Given the description of an element on the screen output the (x, y) to click on. 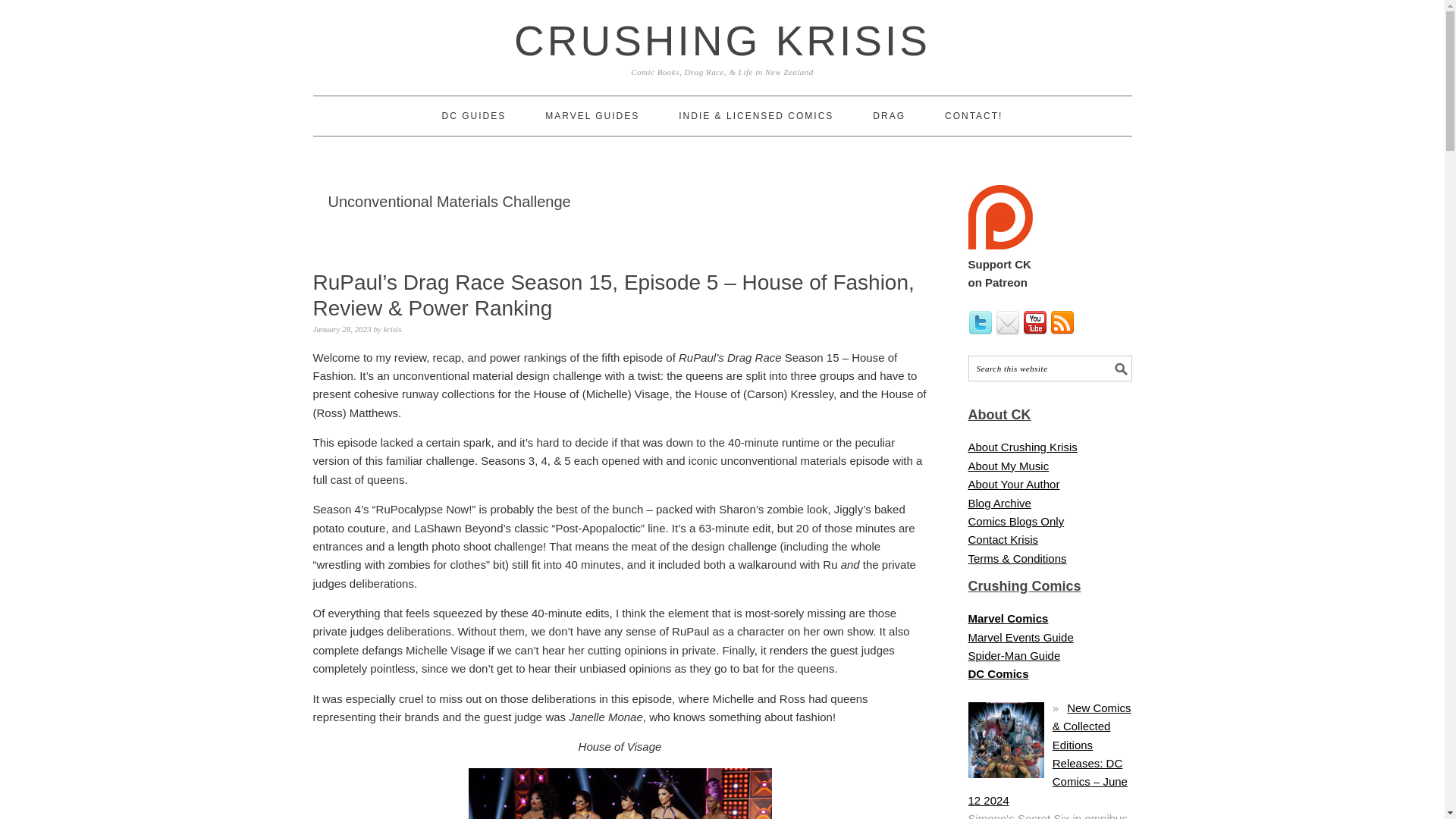
DC GUIDES (474, 115)
MARVEL GUIDES (591, 115)
DRAG (888, 115)
krisis (392, 328)
CONTACT! (974, 115)
CRUSHING KRISIS (721, 40)
